Given the description of an element on the screen output the (x, y) to click on. 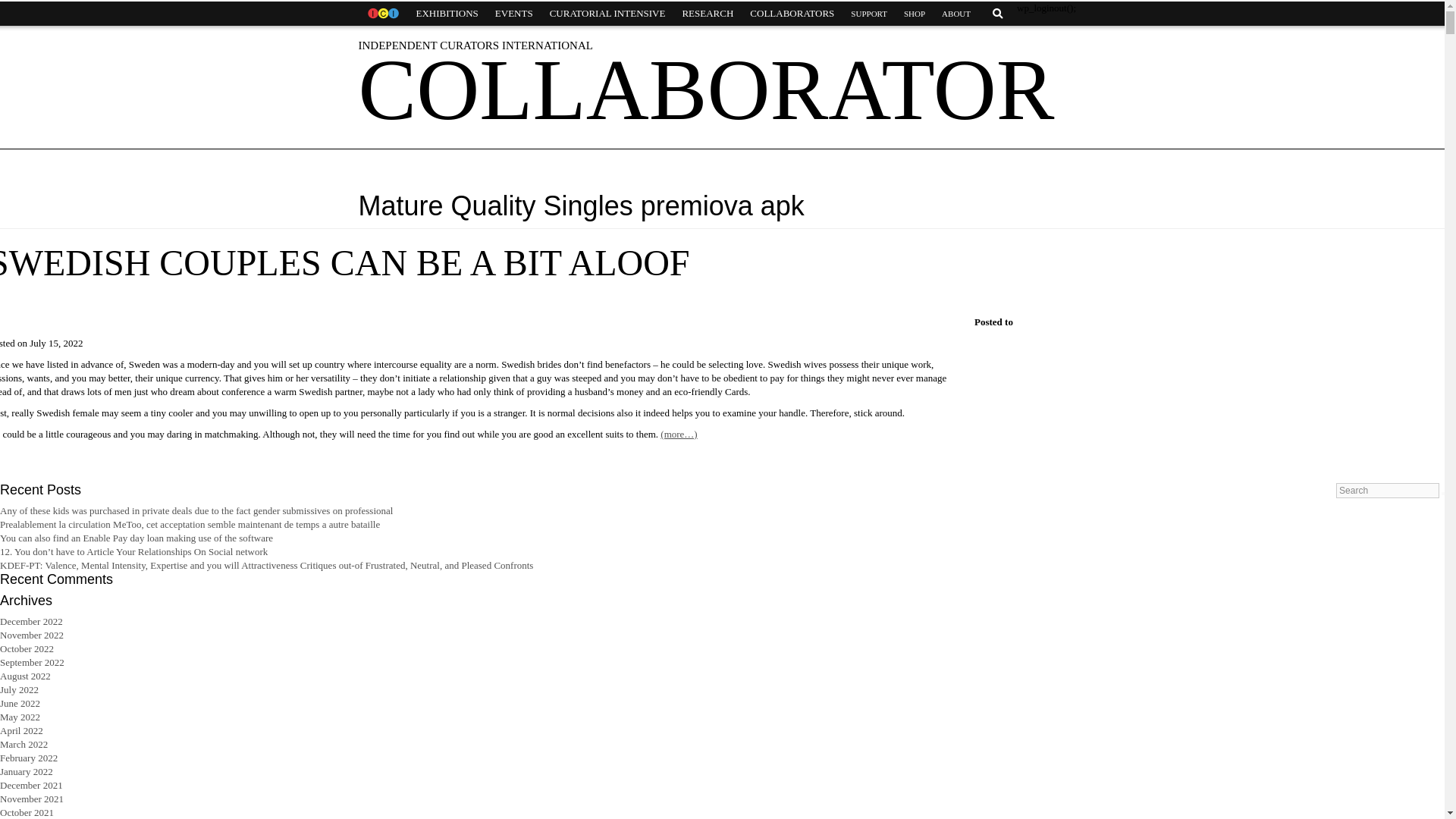
CURATORIAL INTENSIVE (607, 13)
EVENTS (513, 13)
HOME (382, 13)
RESEARCH (706, 13)
COLLABORATORS (792, 13)
EXHIBITIONS (446, 13)
